Given the description of an element on the screen output the (x, y) to click on. 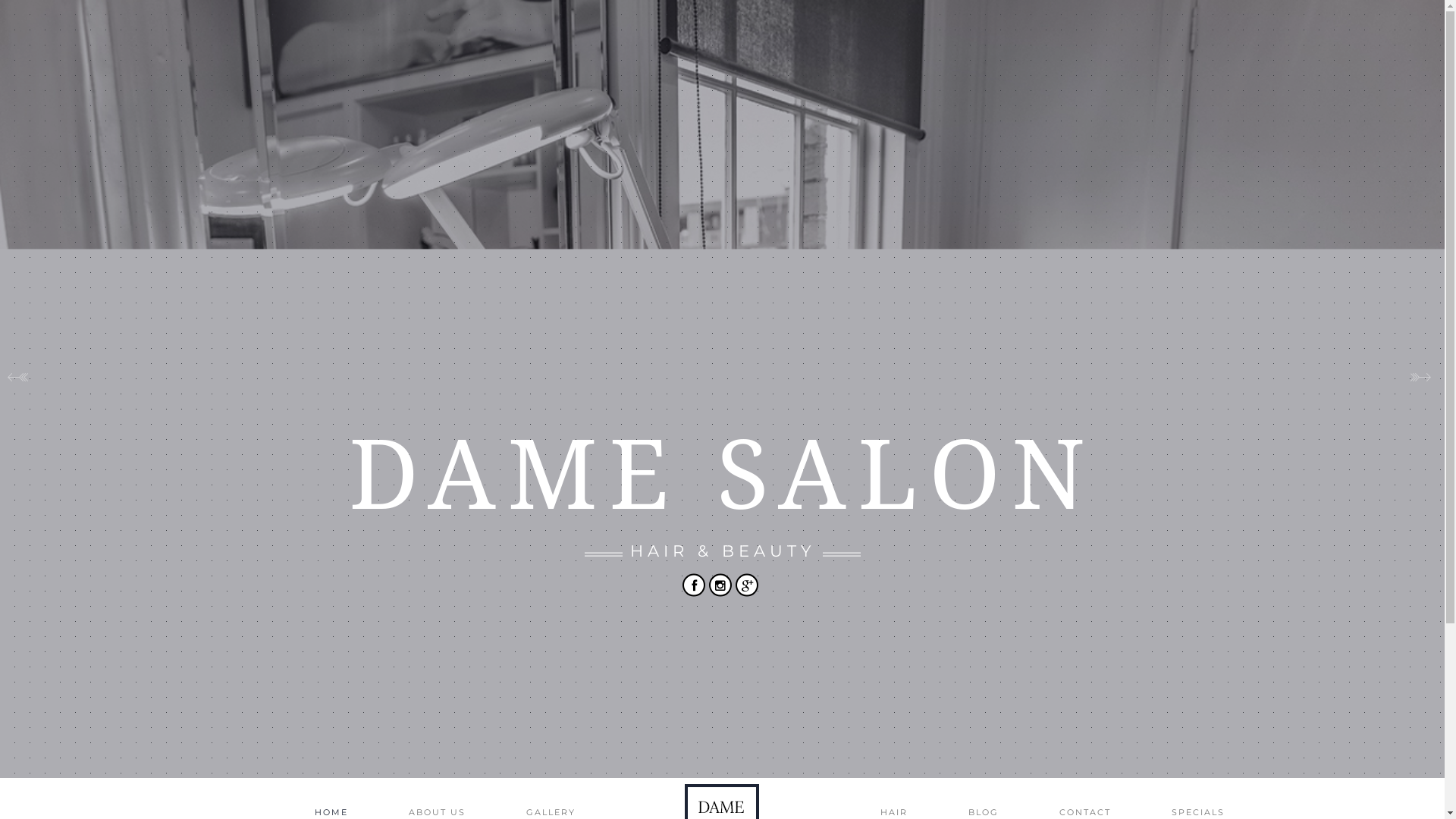
Next Element type: text (1423, 386)
Instagram Element type: hover (720, 584)
Previous Element type: text (20, 386)
Google Element type: hover (746, 584)
Facebook Element type: hover (693, 584)
